Given the description of an element on the screen output the (x, y) to click on. 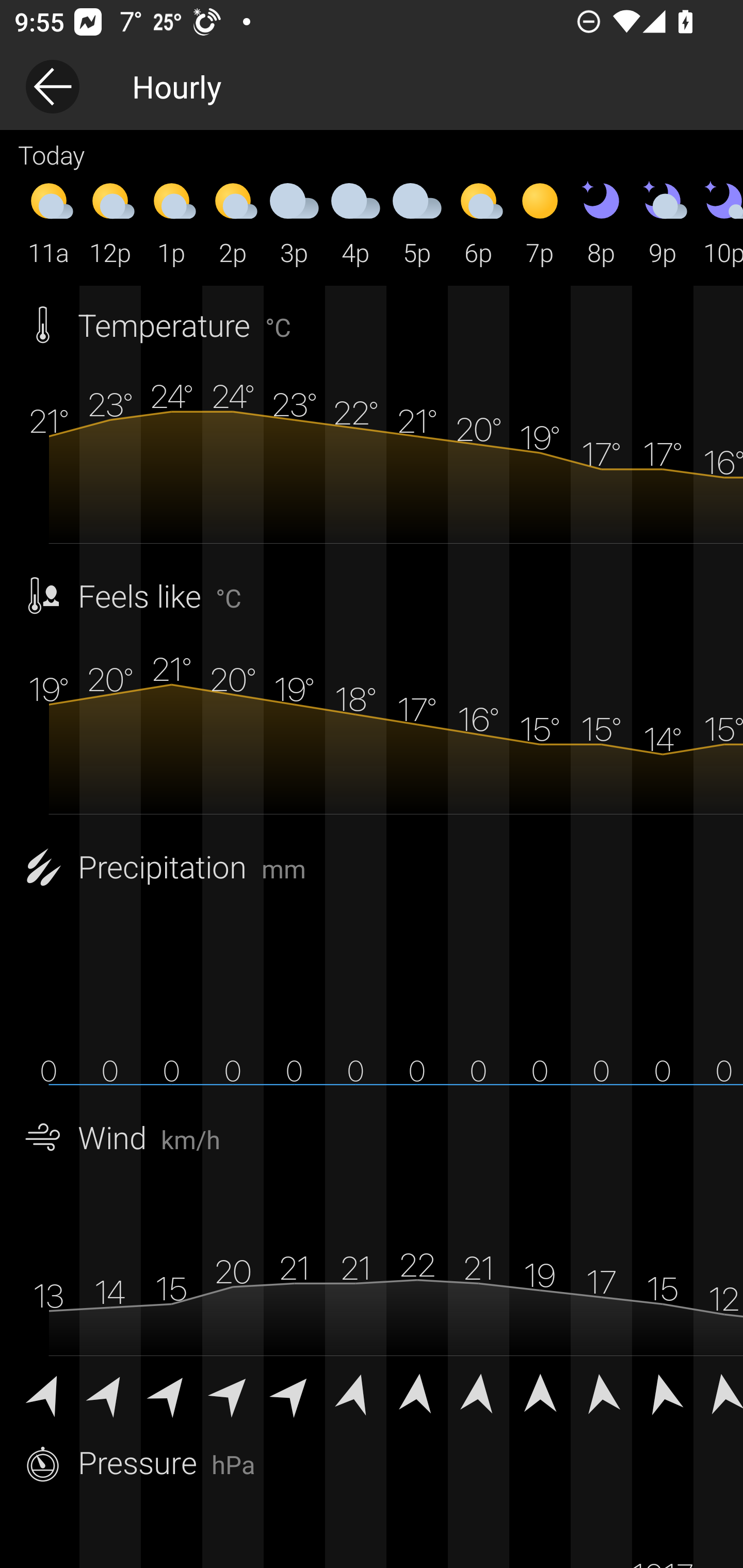
11a (48, 222)
12p (110, 222)
1p (171, 222)
2p (232, 222)
3p (294, 222)
4p (355, 222)
5p (417, 222)
6p (478, 222)
7p (539, 222)
8p (601, 222)
9p (662, 222)
10p (718, 222)
 (48, 1391)
 (110, 1391)
 (171, 1391)
 (232, 1391)
 (294, 1391)
 (355, 1391)
 (417, 1391)
 (478, 1391)
 (539, 1391)
 (601, 1391)
 (662, 1391)
 (718, 1391)
